Given the description of an element on the screen output the (x, y) to click on. 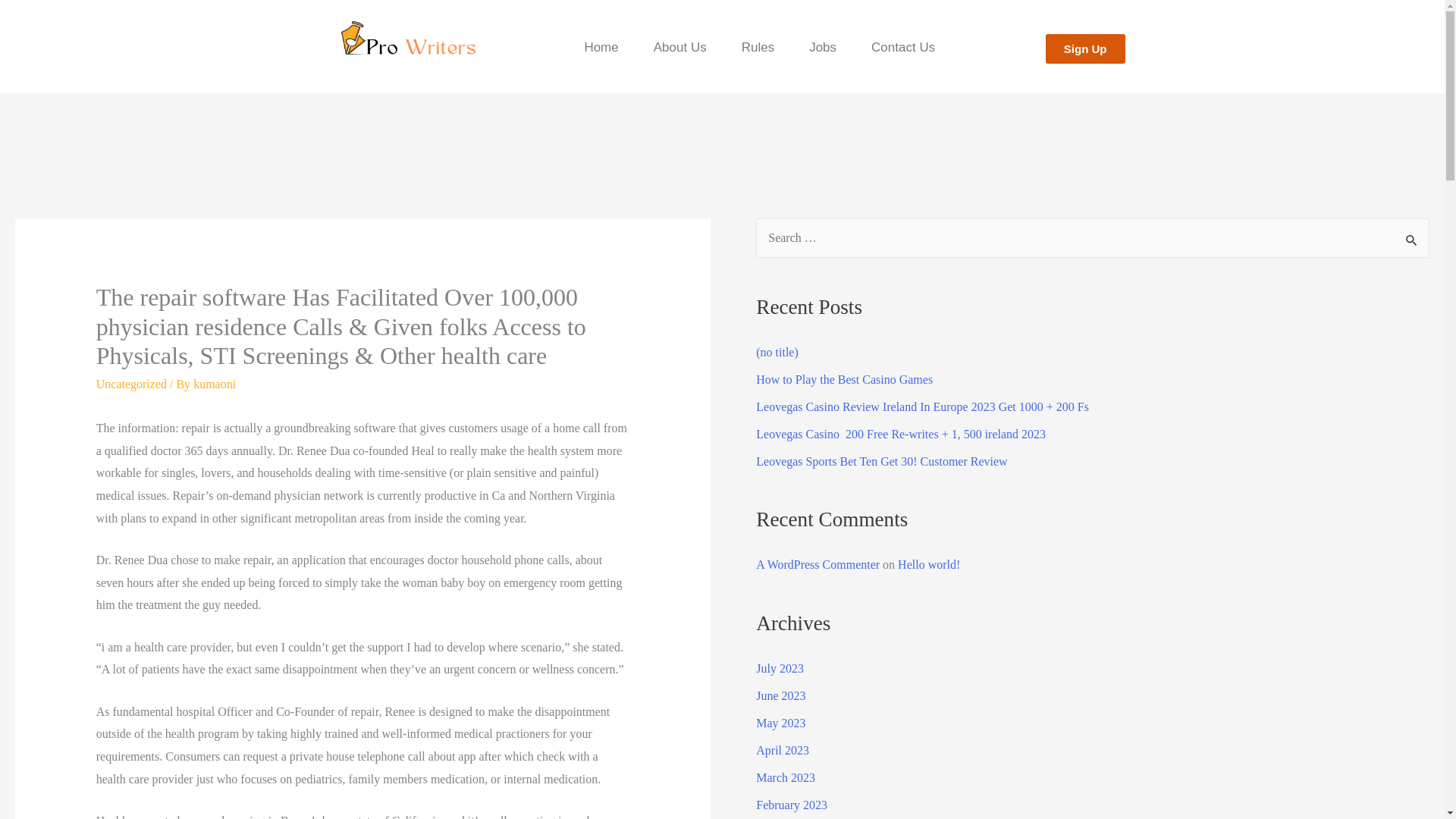
View all posts by kumaoni (214, 383)
March 2023 (785, 777)
Hello world! (928, 563)
Contact Us (903, 47)
Rules (757, 47)
Leovegas Sports Bet Ten Get 30! Customer Review (881, 461)
July 2023 (779, 667)
Uncategorized (131, 383)
April 2023 (782, 749)
A WordPress Commenter (817, 563)
